Given the description of an element on the screen output the (x, y) to click on. 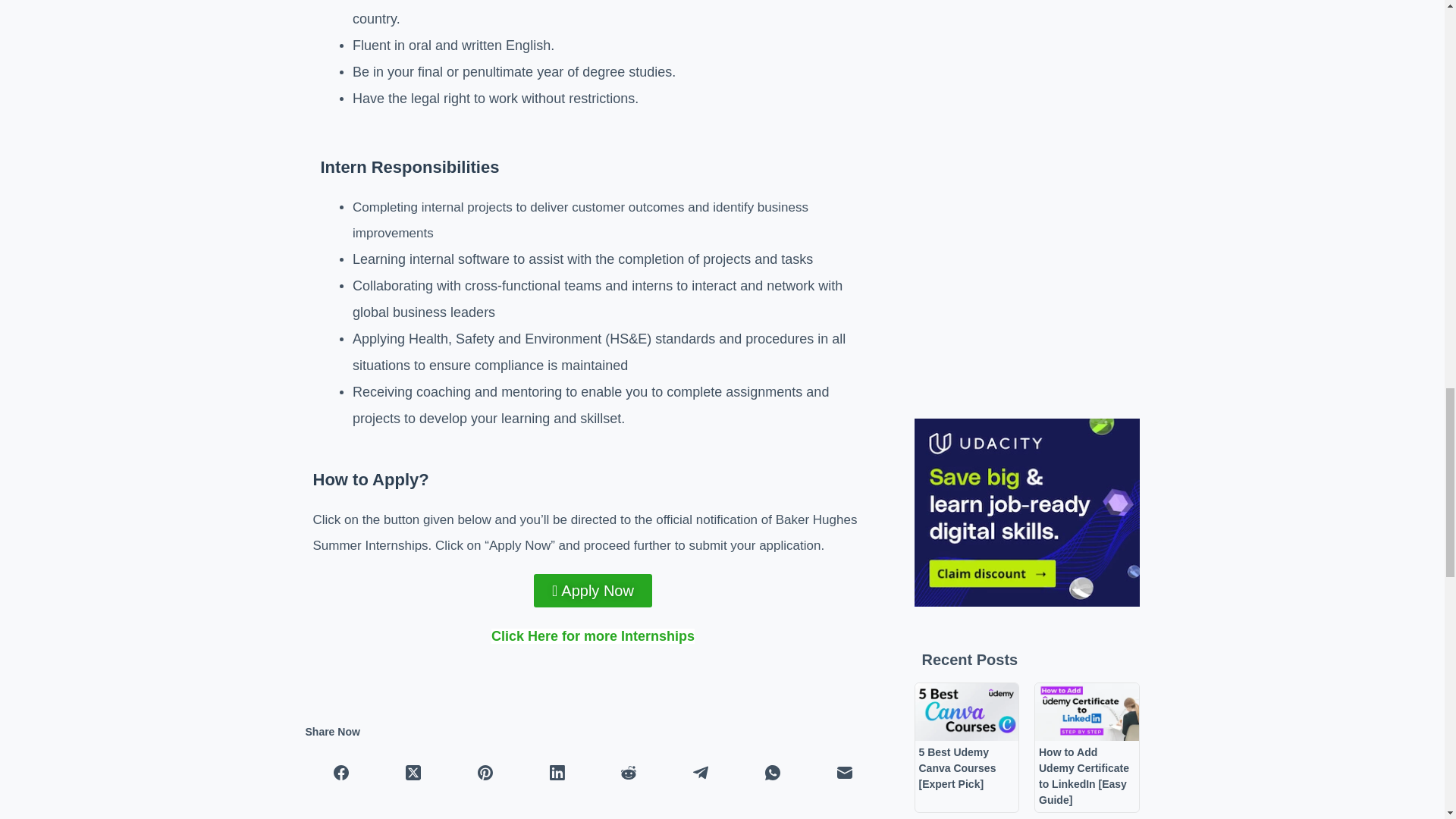
Click Here for more Internships (593, 635)
9 Best Data Science Courses on Coursera (965, 47)
10 Books Everyone Must Read (1086, 47)
Is FMVA Worth it? CFI FMVA Certification Review (965, 177)
Apply Now (593, 590)
